Given the description of an element on the screen output the (x, y) to click on. 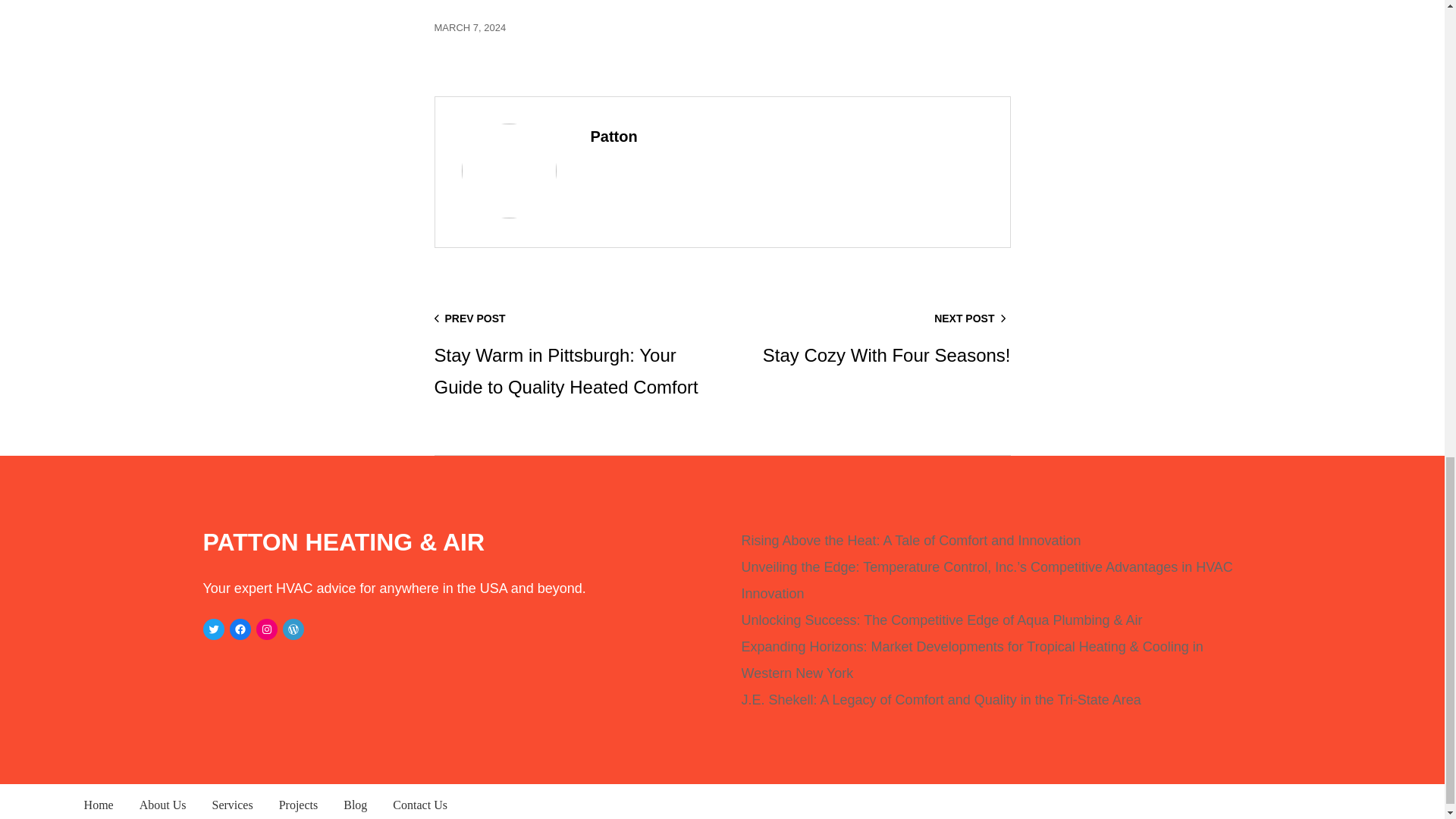
Rising Above the Heat: A Tale of Comfort and Innovation (911, 540)
Twitter (213, 629)
Facebook (239, 629)
WordPress (292, 629)
Instagram (267, 629)
MARCH 7, 2024 (870, 338)
